Given the description of an element on the screen output the (x, y) to click on. 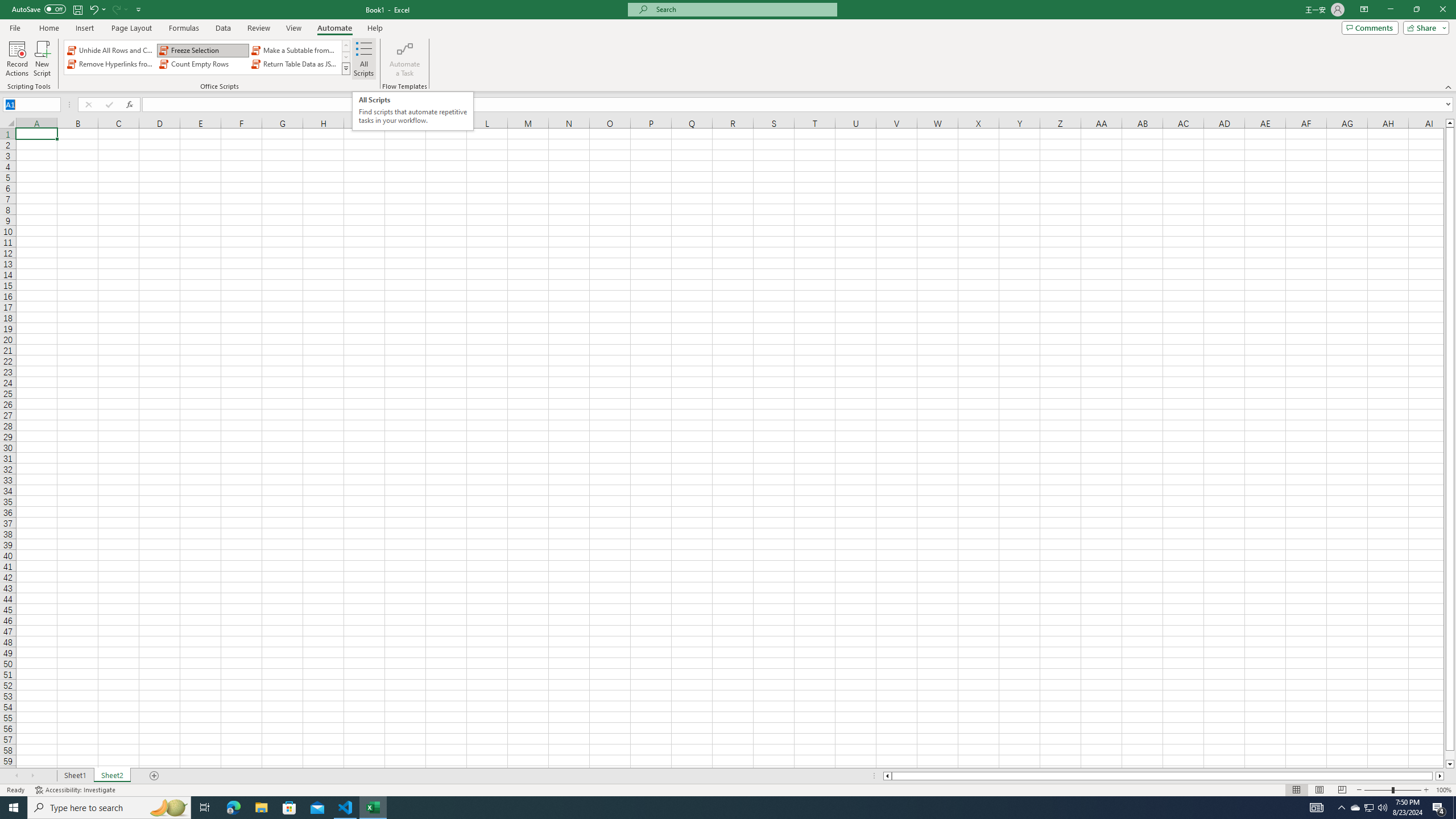
Zoom In (1426, 790)
Microsoft search (742, 9)
Formulas (184, 28)
Sheet1 (74, 775)
Add Sheet (155, 775)
Count Empty Rows (202, 64)
Save (77, 9)
Page Layout (131, 28)
Remove Hyperlinks from Sheet (111, 64)
Return Table Data as JSON (294, 64)
Office Scripts (346, 68)
Scroll Right (32, 775)
Line down (1449, 764)
Class: NetUIScrollBar (1163, 775)
